Given the description of an element on the screen output the (x, y) to click on. 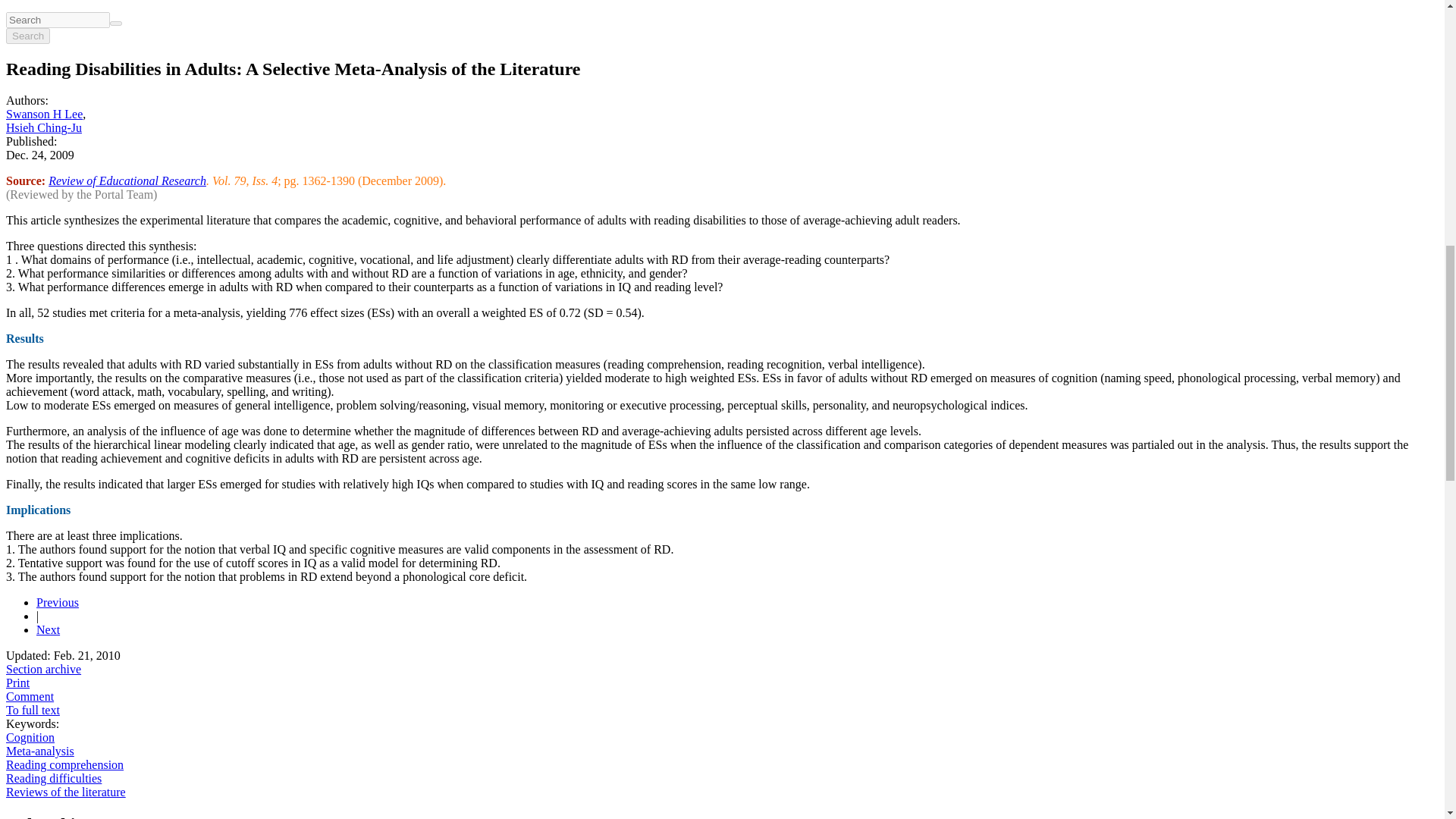
Next (47, 629)
Search (27, 35)
Review of Educational Research (127, 180)
Previous (57, 602)
Enter the terms you wish to search for. (57, 19)
Hsieh Ching-Ju (43, 127)
To full text (32, 709)
Cognition (30, 737)
Review of Educational Research (127, 180)
Swanson H Lee (43, 113)
Comment (29, 696)
Meta-analysis (39, 750)
Section archive (43, 668)
Reading comprehension (64, 764)
Print (17, 682)
